Given the description of an element on the screen output the (x, y) to click on. 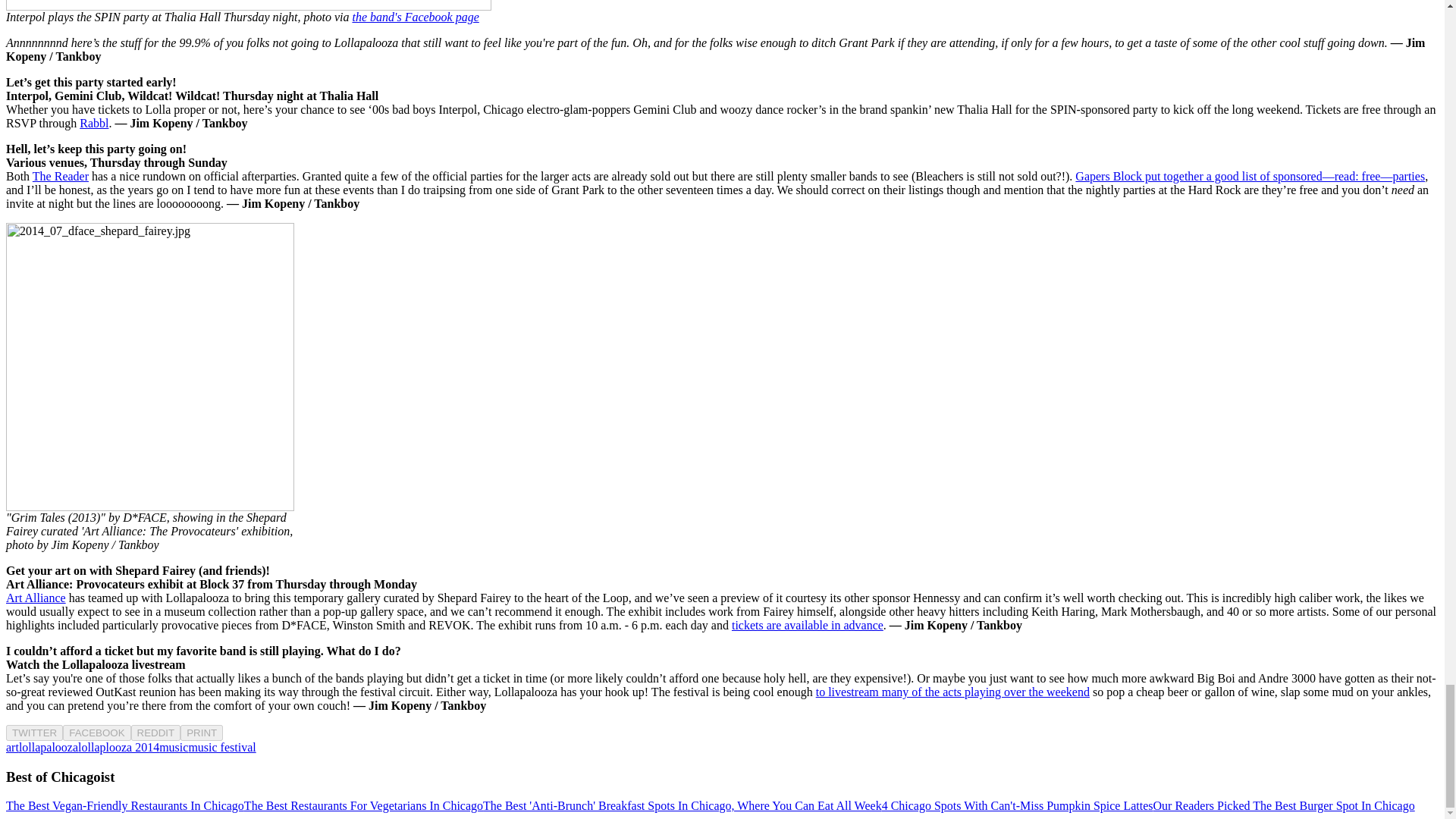
PRINT (201, 731)
REDDIT (155, 732)
REDDIT (155, 731)
Rabbl (93, 123)
TWITTER (33, 732)
the band's Facebook page (415, 16)
to livestream many of the acts playing over the weekend (952, 691)
art (11, 747)
lollaplooza 2014 (118, 747)
lollapalooza (48, 747)
